Given the description of an element on the screen output the (x, y) to click on. 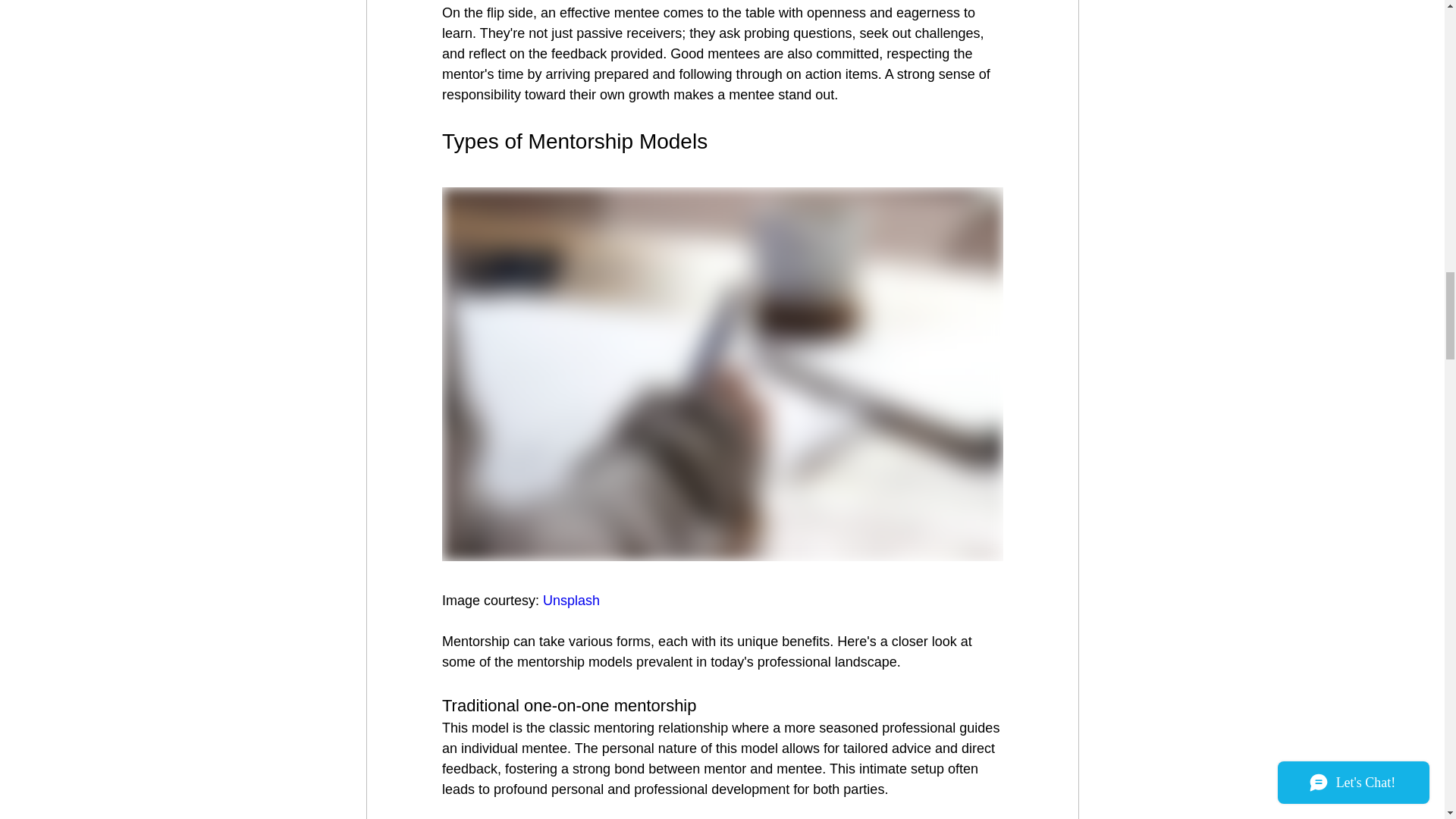
Unsplash (571, 601)
